Given the description of an element on the screen output the (x, y) to click on. 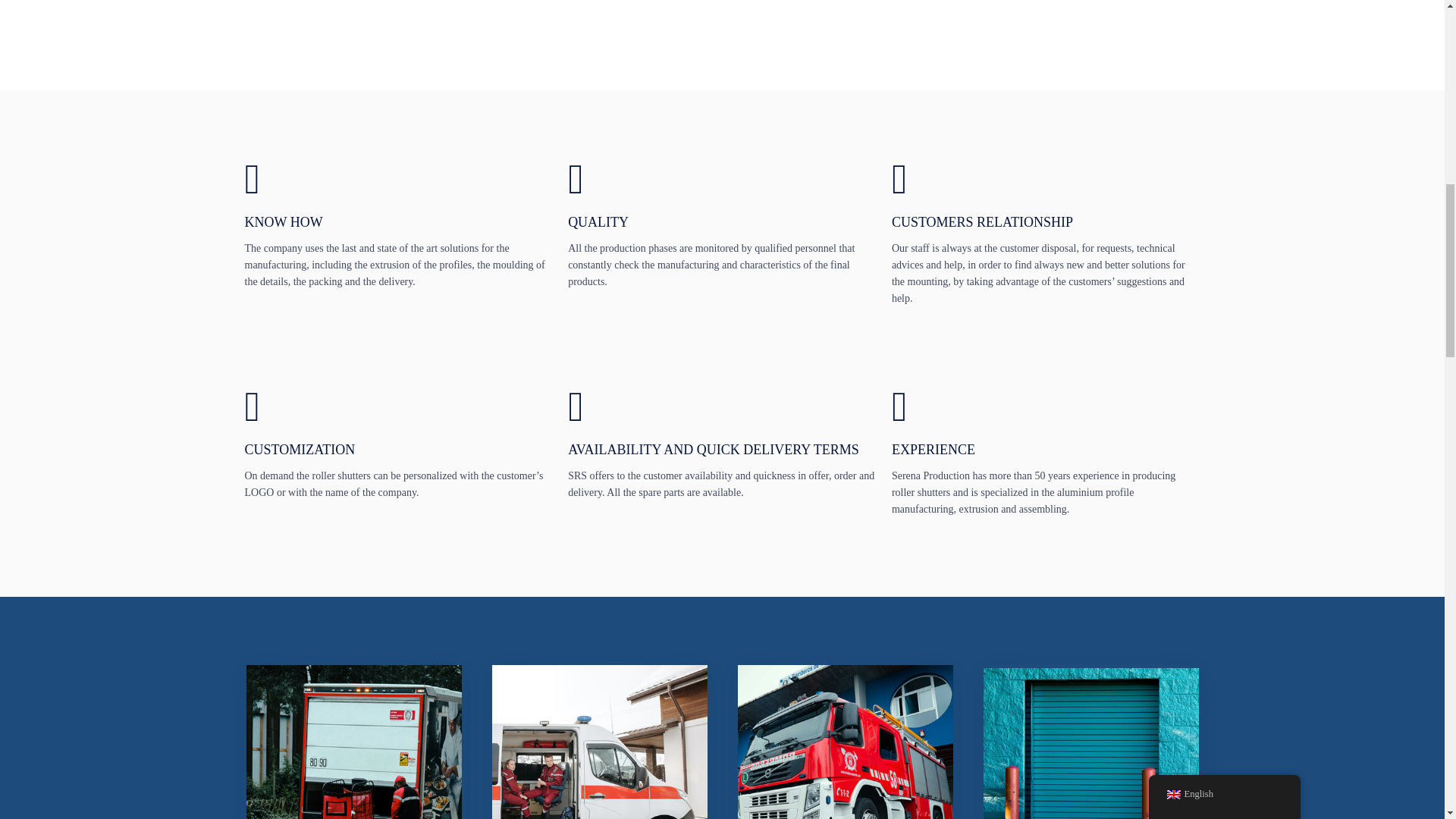
furgoni (353, 742)
prodotti-1 (1090, 743)
veicoli-em-2 (599, 742)
veic (844, 742)
